Given the description of an element on the screen output the (x, y) to click on. 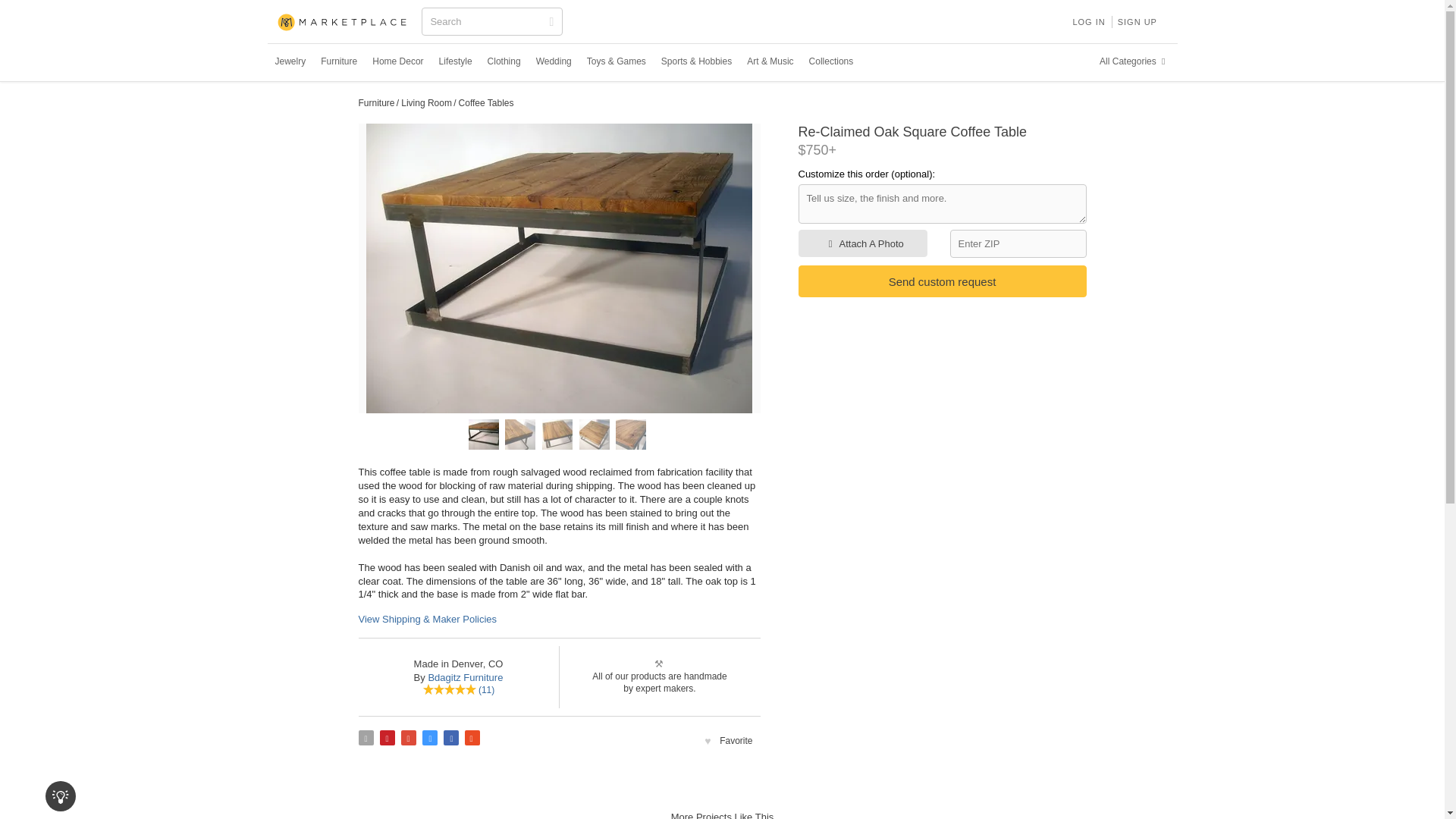
SIGN UP (1137, 21)
Log in to CustomMade (1087, 21)
LOG IN (1087, 21)
Custom Jewelry (289, 61)
Jewelry (289, 61)
CUSTOMMADE (342, 22)
All Categories (1134, 61)
